Given the description of an element on the screen output the (x, y) to click on. 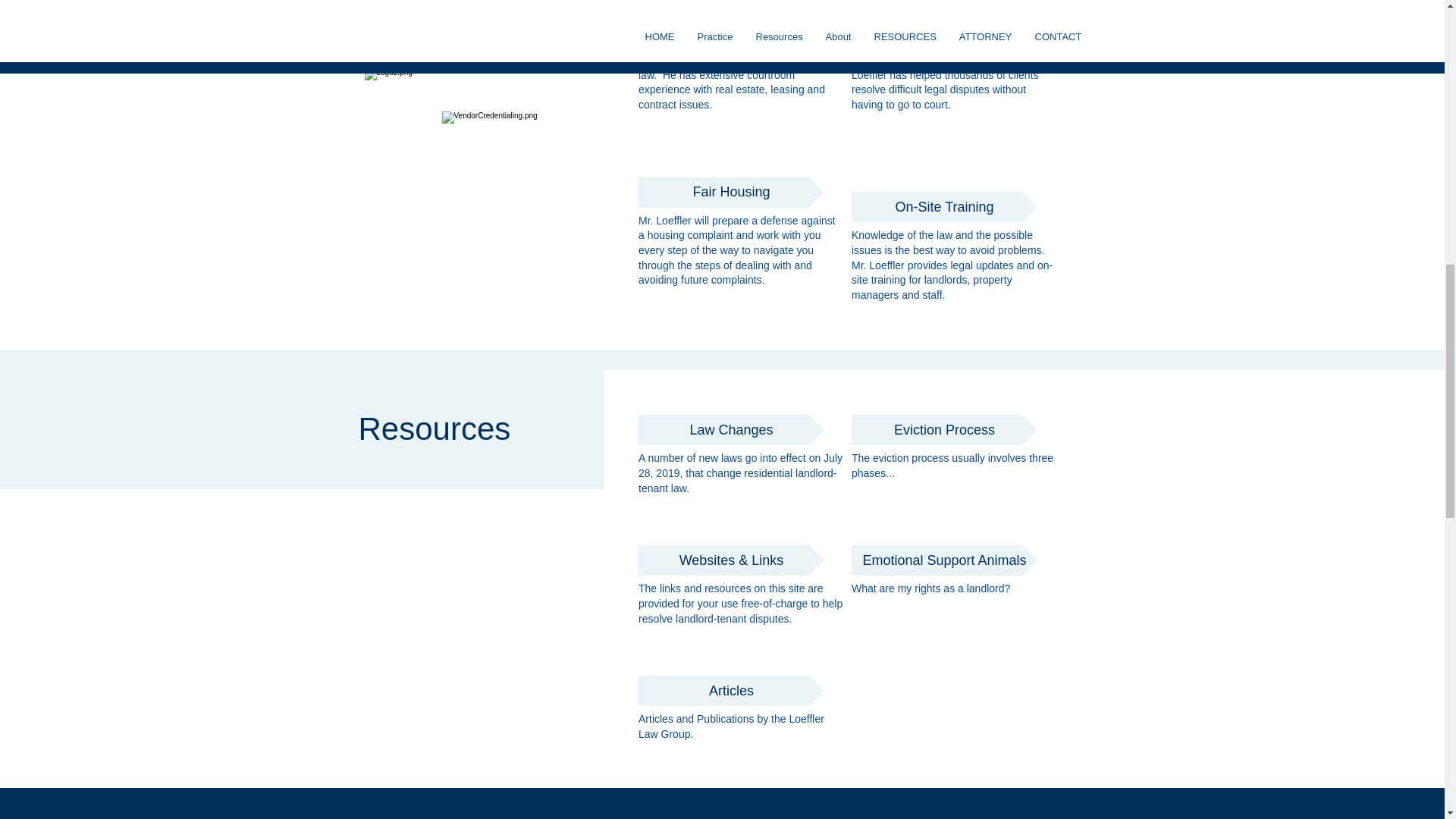
Eviction Process (943, 429)
Dispute Resolution (943, 31)
Litigation (731, 16)
Fair Housing (731, 192)
Articles (731, 690)
Law Changes (731, 429)
Emotional Support Animals (943, 560)
On-Site Training (943, 206)
